Given the description of an element on the screen output the (x, y) to click on. 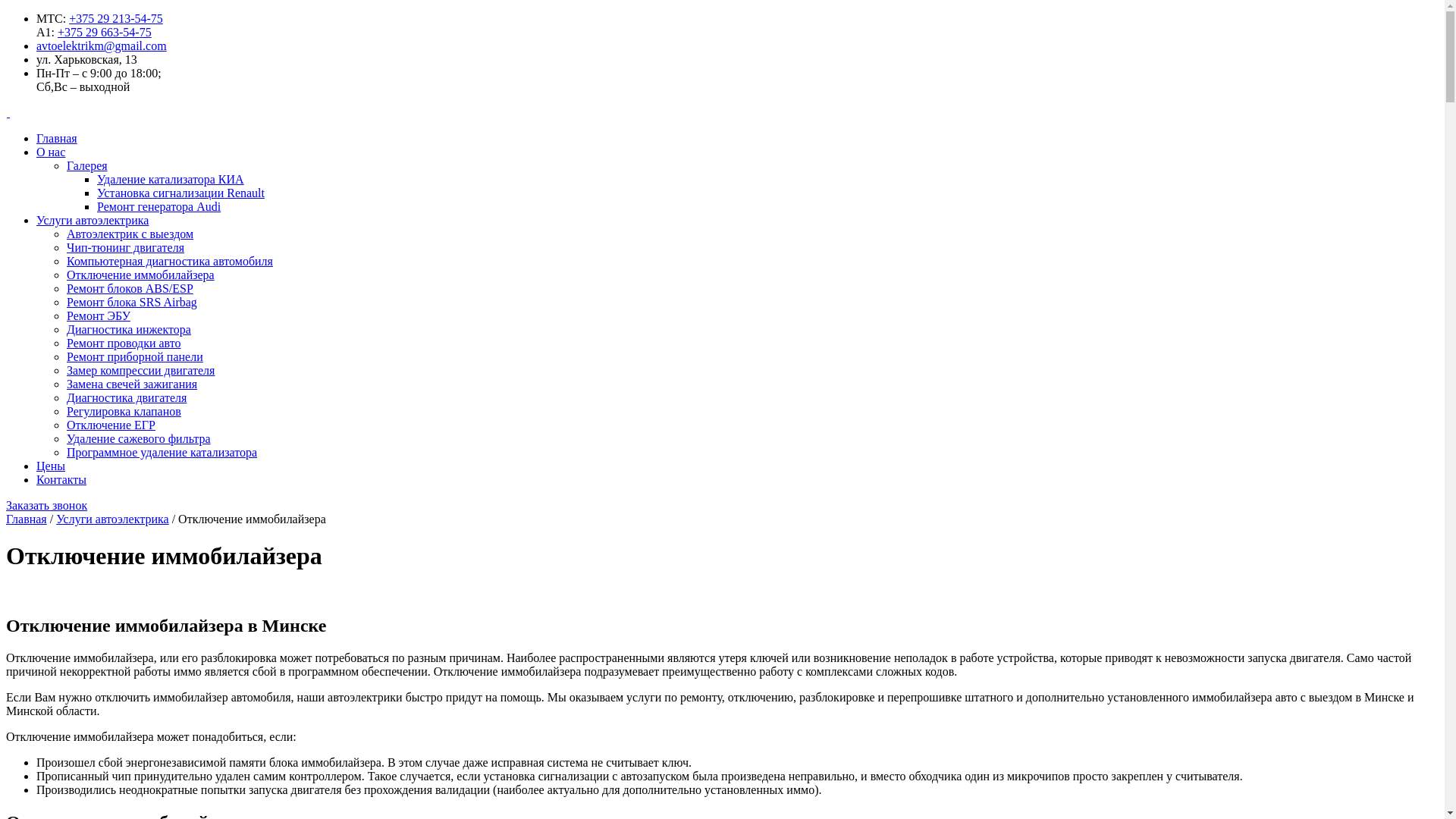
+375 29 663-54-75 Element type: text (104, 31)
avtoelektrikm@gmail.com Element type: text (101, 45)
+375 29 213-54-75 Element type: text (116, 18)
